Given the description of an element on the screen output the (x, y) to click on. 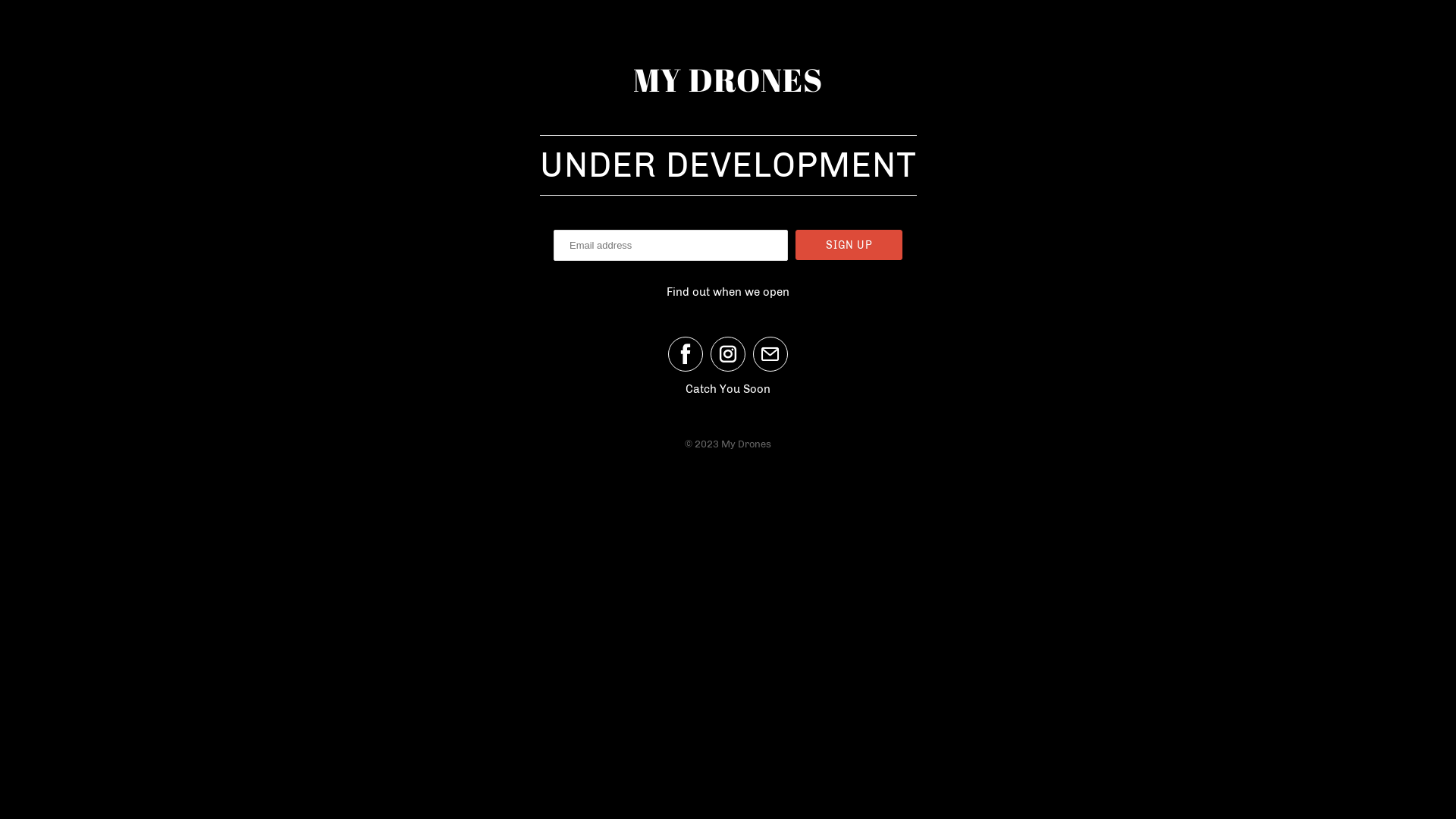
My Drones on Facebook Element type: hover (685, 353)
Email My Drones Element type: hover (770, 353)
Sign Up Element type: text (848, 244)
My Drones on Instagram Element type: hover (727, 353)
Enter Element type: text (727, 423)
